Given the description of an element on the screen output the (x, y) to click on. 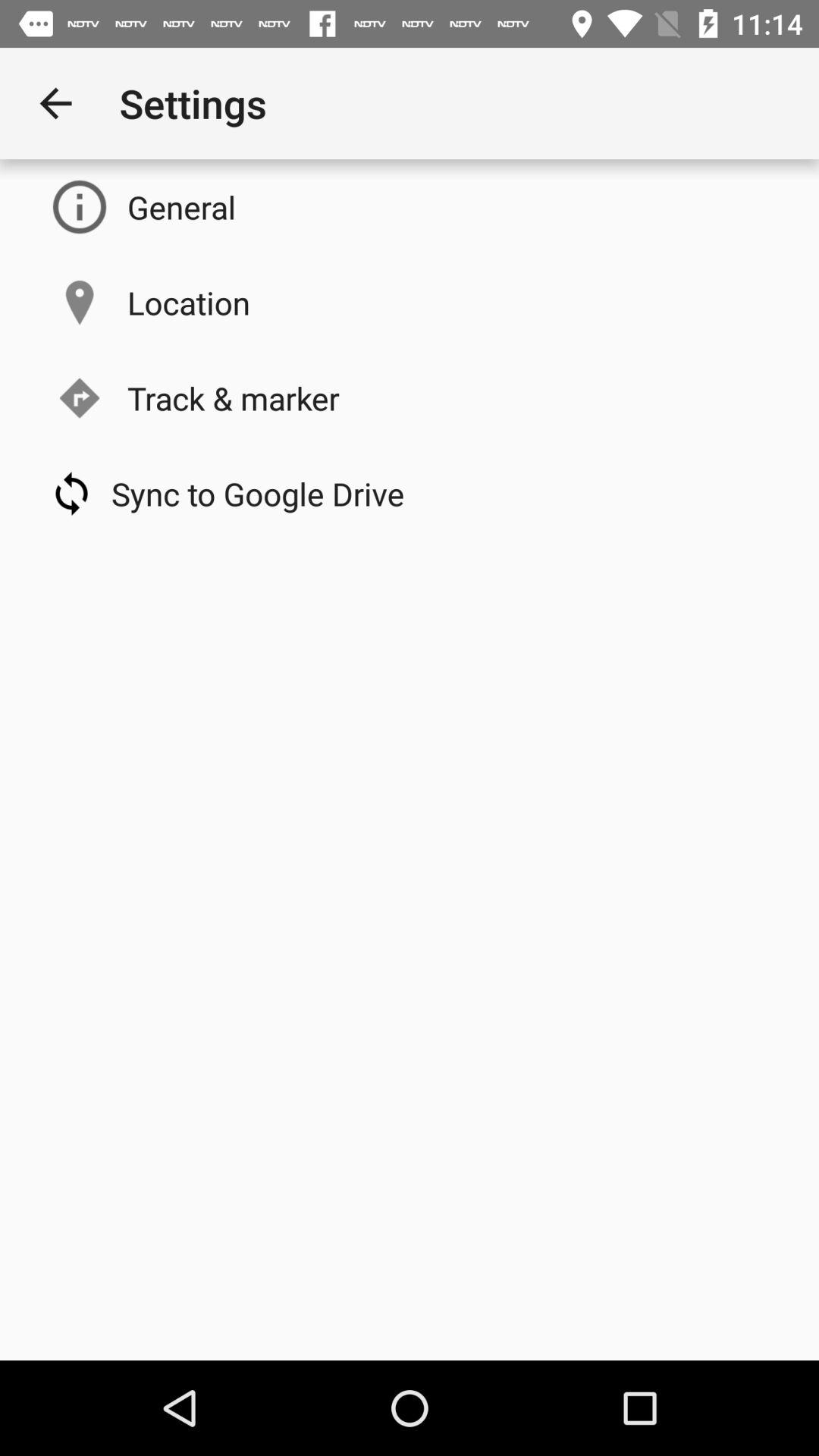
choose the icon above track & marker (188, 302)
